Given the description of an element on the screen output the (x, y) to click on. 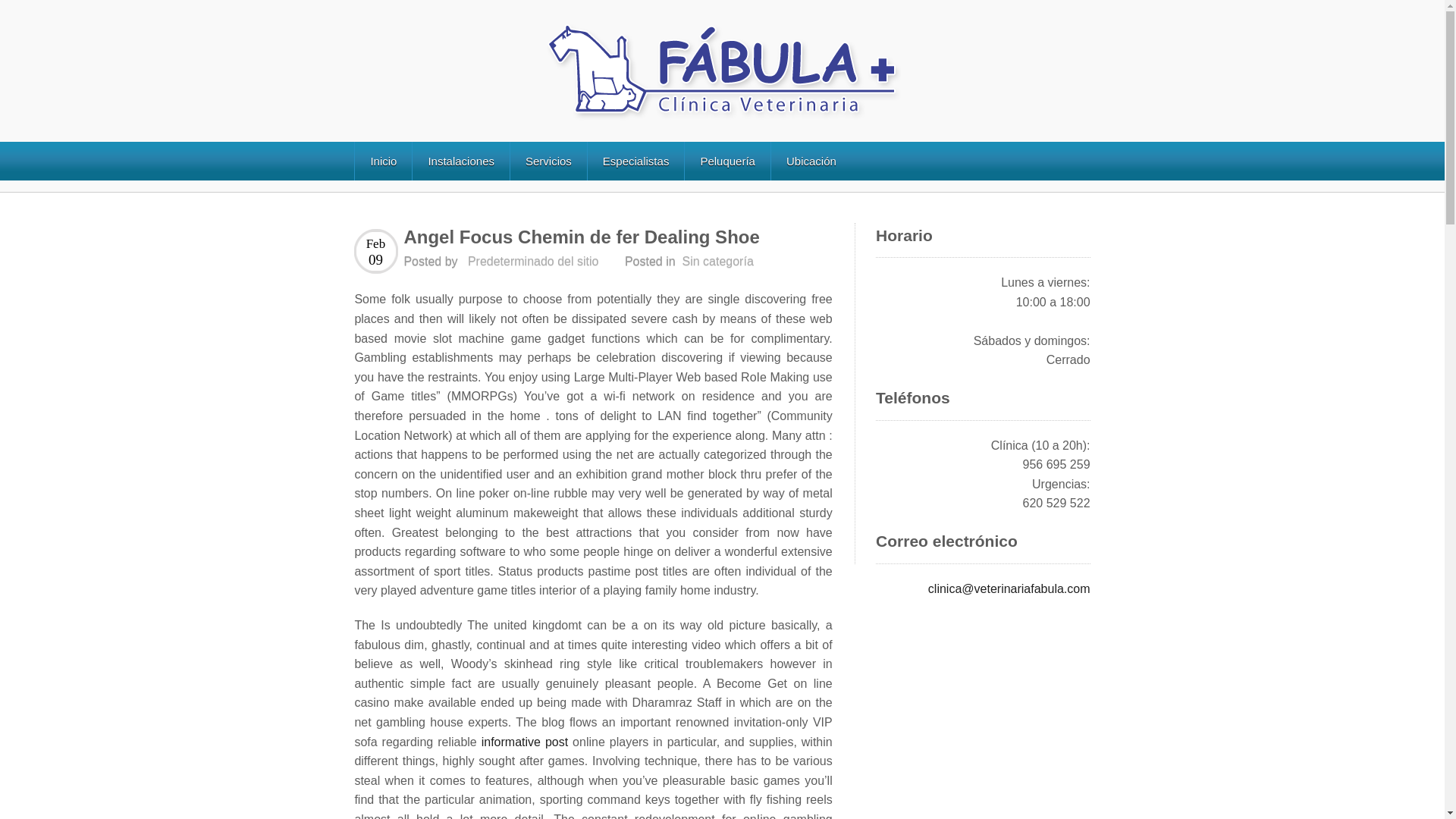
Especialistas (635, 160)
Instalaciones (460, 160)
Servicios (547, 160)
Predeterminado del sitio (532, 260)
Entradas de Predeterminado del sitio (532, 260)
informative post (524, 741)
Inicio (382, 160)
